Given the description of an element on the screen output the (x, y) to click on. 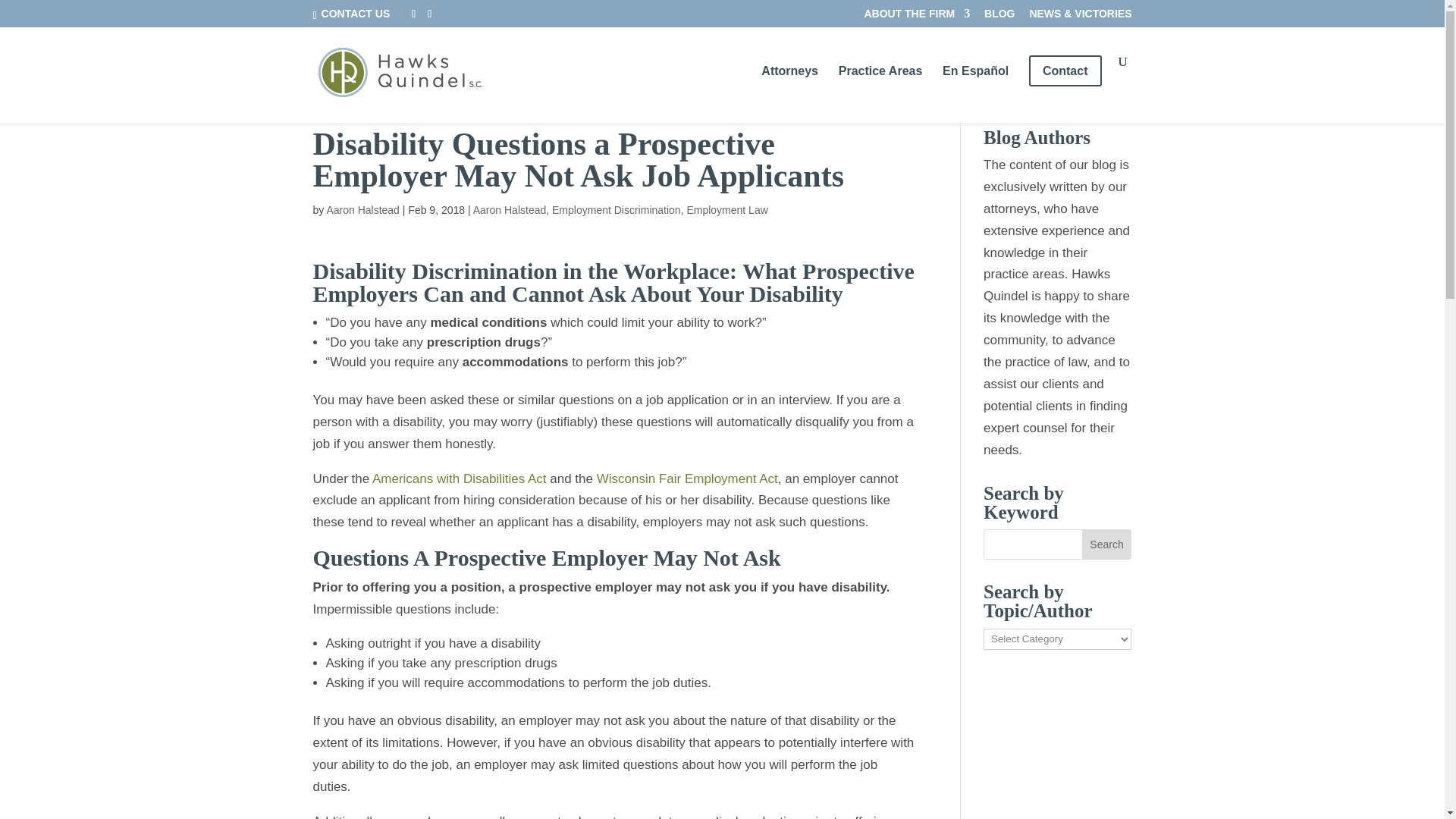
Search (1106, 544)
ABOUT THE FIRM (916, 16)
CONTACT US (354, 13)
Posts by Aaron Halstead (362, 209)
